Given the description of an element on the screen output the (x, y) to click on. 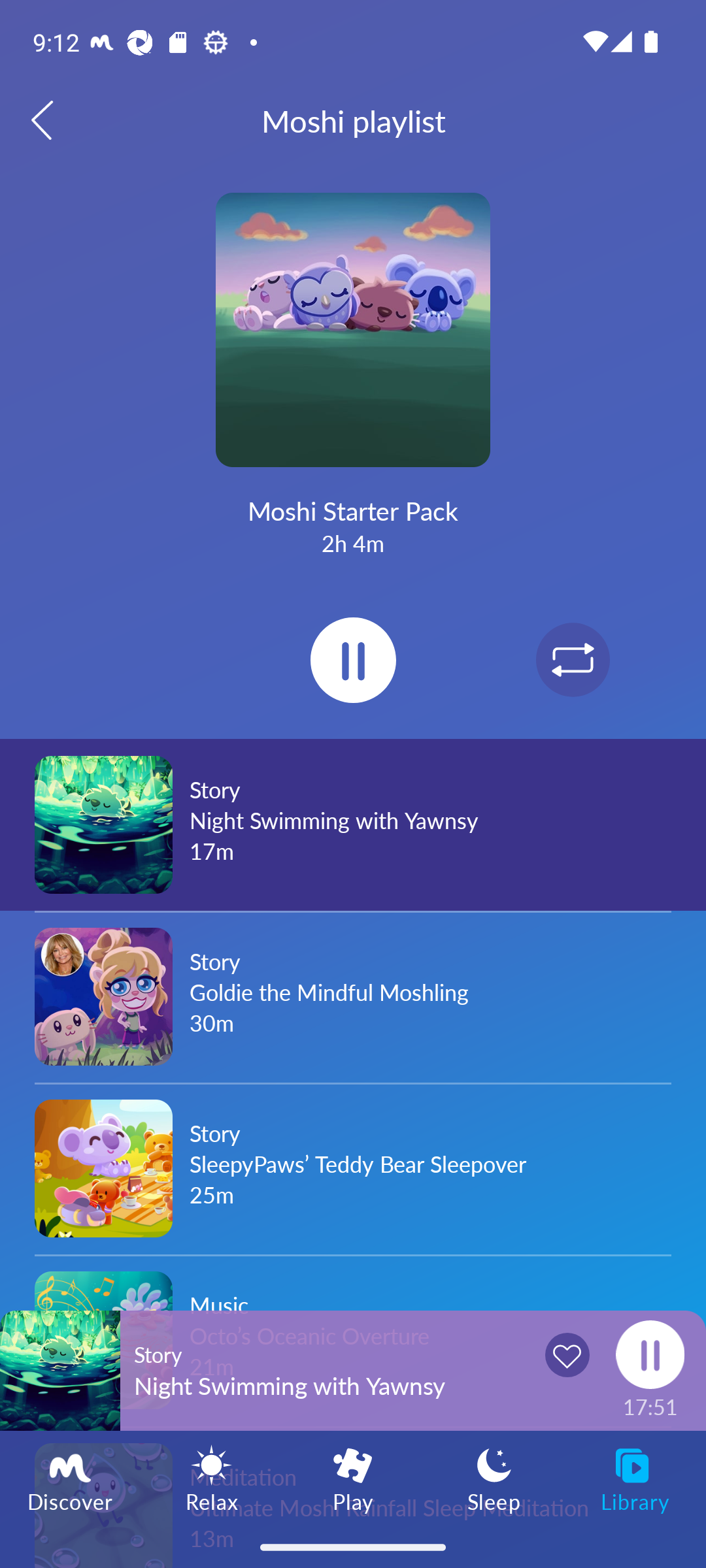
Story Night Swimming with Yawnsy 17m (353, 824)
Story Goldie the Mindful Moshling 30m (353, 996)
Story SleepyPaws’ Teddy Bear Sleepover 25m (353, 1167)
Story Night Swimming with Yawnsy 17:51 (353, 1370)
Discover (70, 1478)
Relax (211, 1478)
Play (352, 1478)
Sleep (493, 1478)
